Given the description of an element on the screen output the (x, y) to click on. 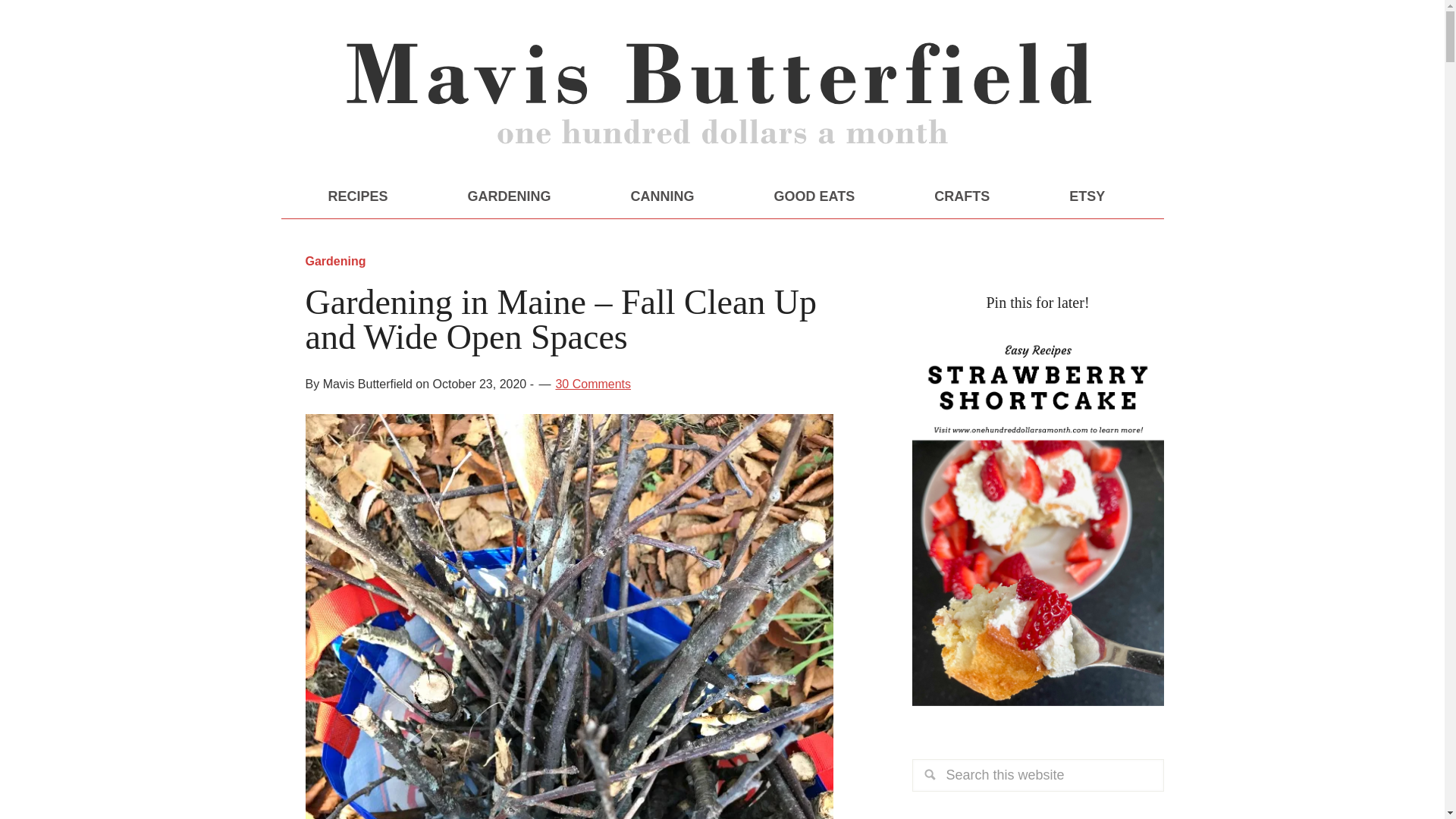
30 Comments (592, 383)
ETSY (1086, 196)
GARDENING (509, 196)
CANNING (662, 196)
RECIPES (357, 196)
Gardening (335, 261)
CRAFTS (961, 196)
GOOD EATS (814, 196)
One Hundred Dollars a Month (721, 98)
